Given the description of an element on the screen output the (x, y) to click on. 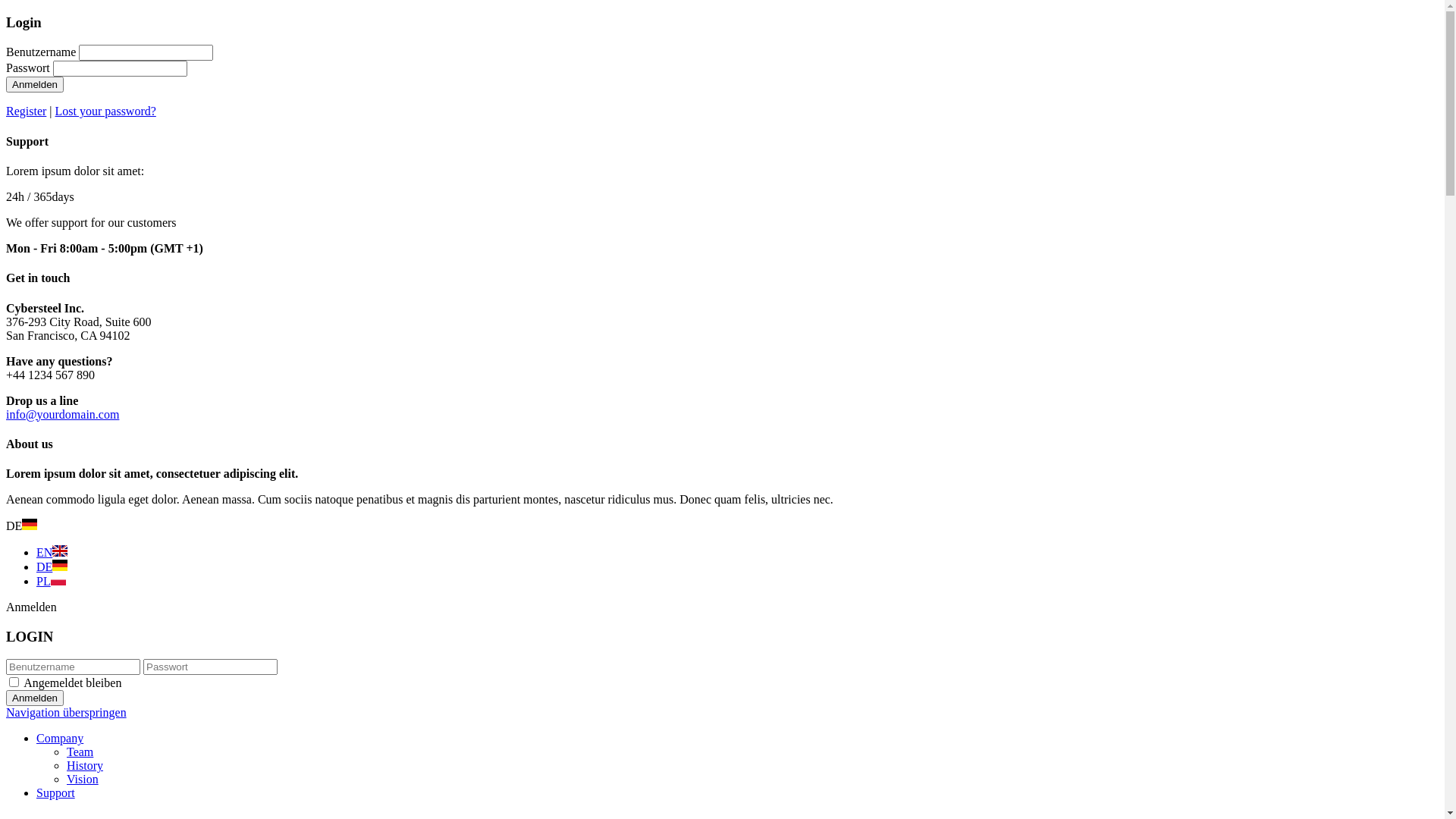
info@yourdomain.com Element type: text (62, 413)
DE Element type: text (51, 566)
Register Element type: text (26, 110)
Vision Element type: text (82, 778)
EN Element type: text (51, 552)
PL Element type: text (50, 580)
History Element type: text (84, 765)
Team Element type: text (79, 751)
Lost your password? Element type: text (105, 110)
Support Element type: text (55, 792)
Company Element type: text (59, 737)
Anmelden Element type: text (34, 84)
Anmelden Element type: text (34, 698)
